Given the description of an element on the screen output the (x, y) to click on. 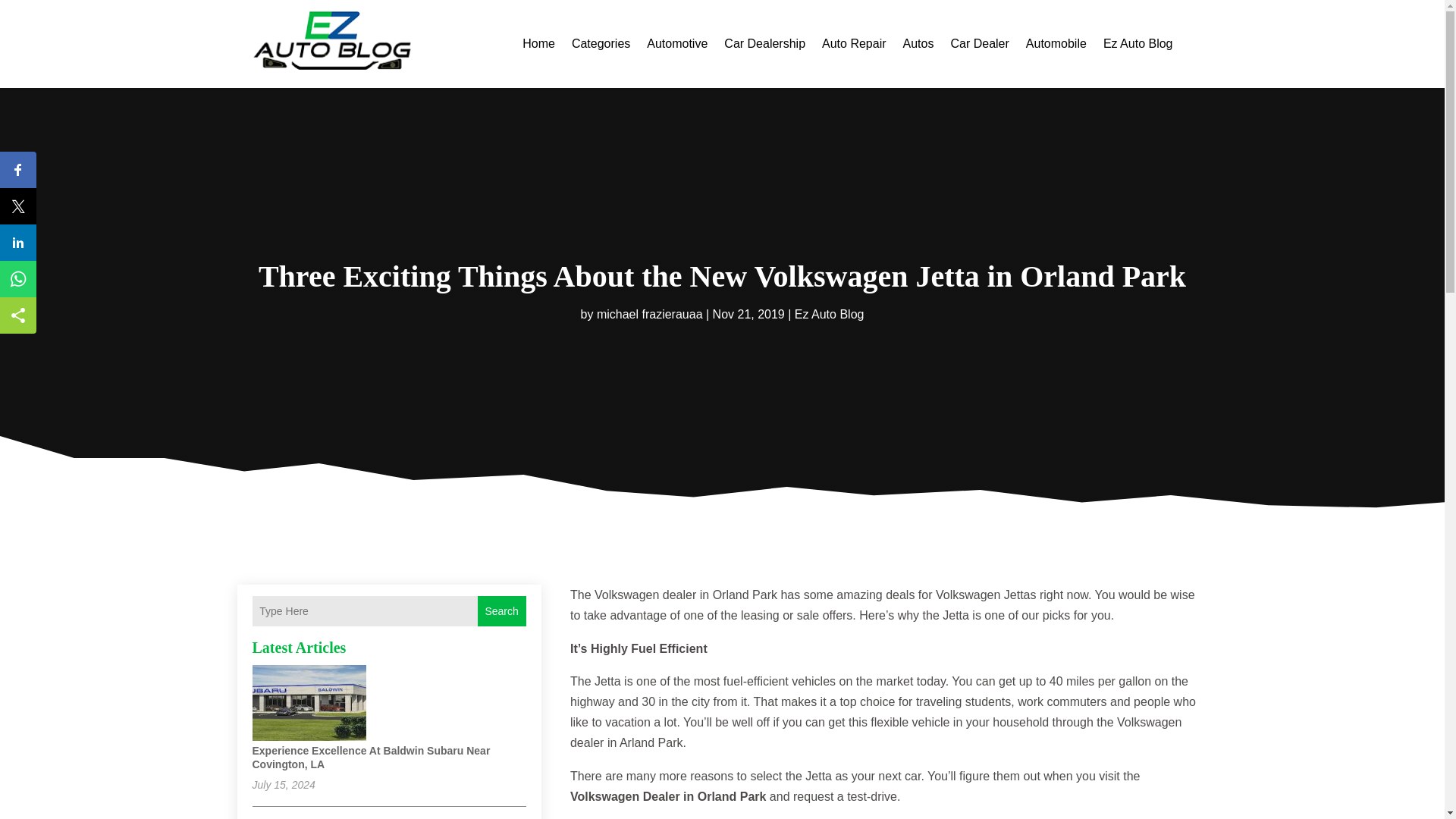
michael frazierauaa (649, 314)
Ez Auto Blog (1138, 43)
Automobile (1056, 43)
Car Dealership (764, 43)
Ez Auto Blog (829, 314)
Car Dealer (979, 43)
Experience Excellence At Baldwin Subaru Near Covington, LA (370, 757)
Search (501, 611)
Auto Repair (854, 43)
Automotive (676, 43)
Categories (601, 43)
Posts by michael frazierauaa (649, 314)
